Given the description of an element on the screen output the (x, y) to click on. 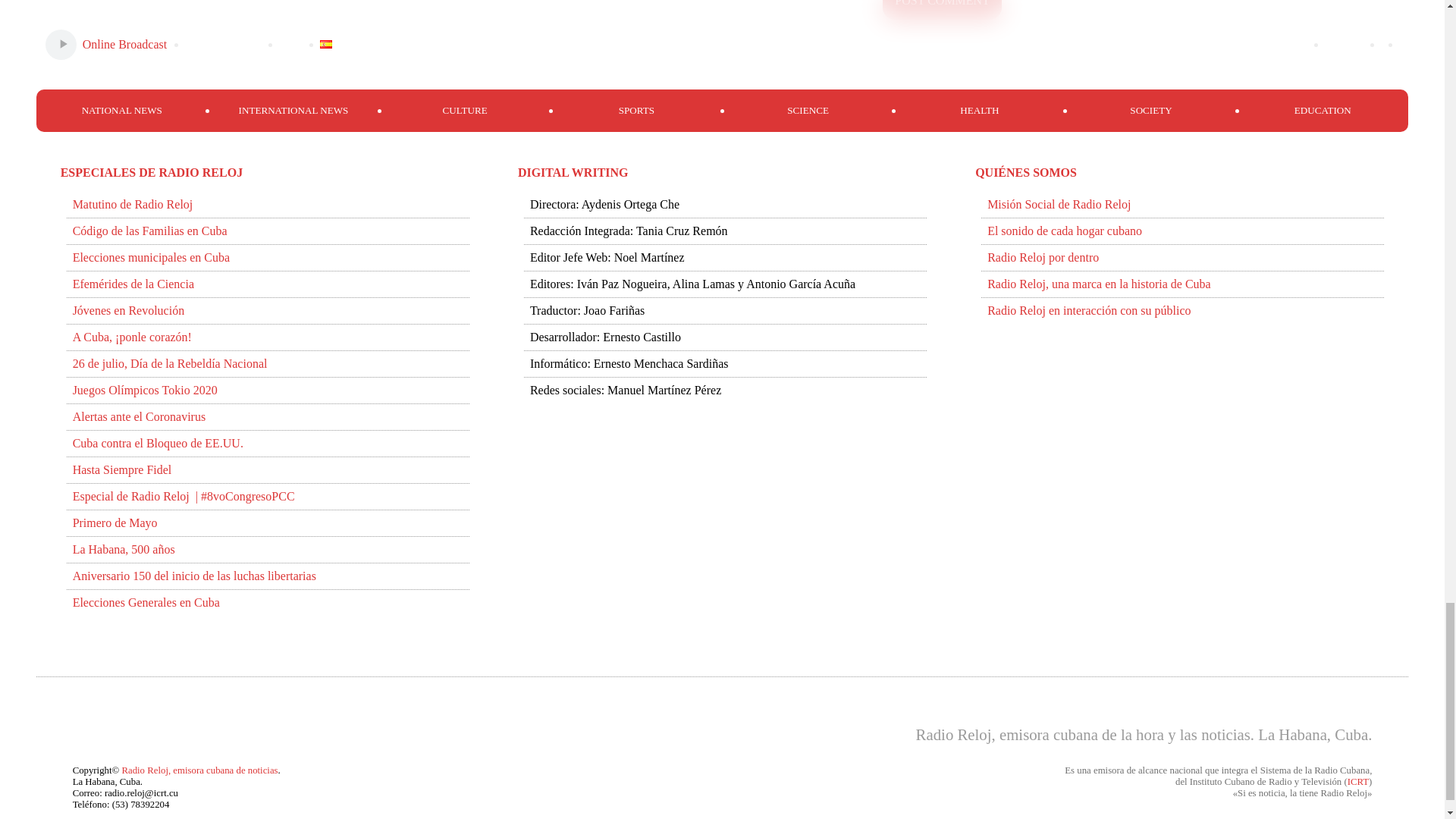
Post Comment (941, 9)
